Given the description of an element on the screen output the (x, y) to click on. 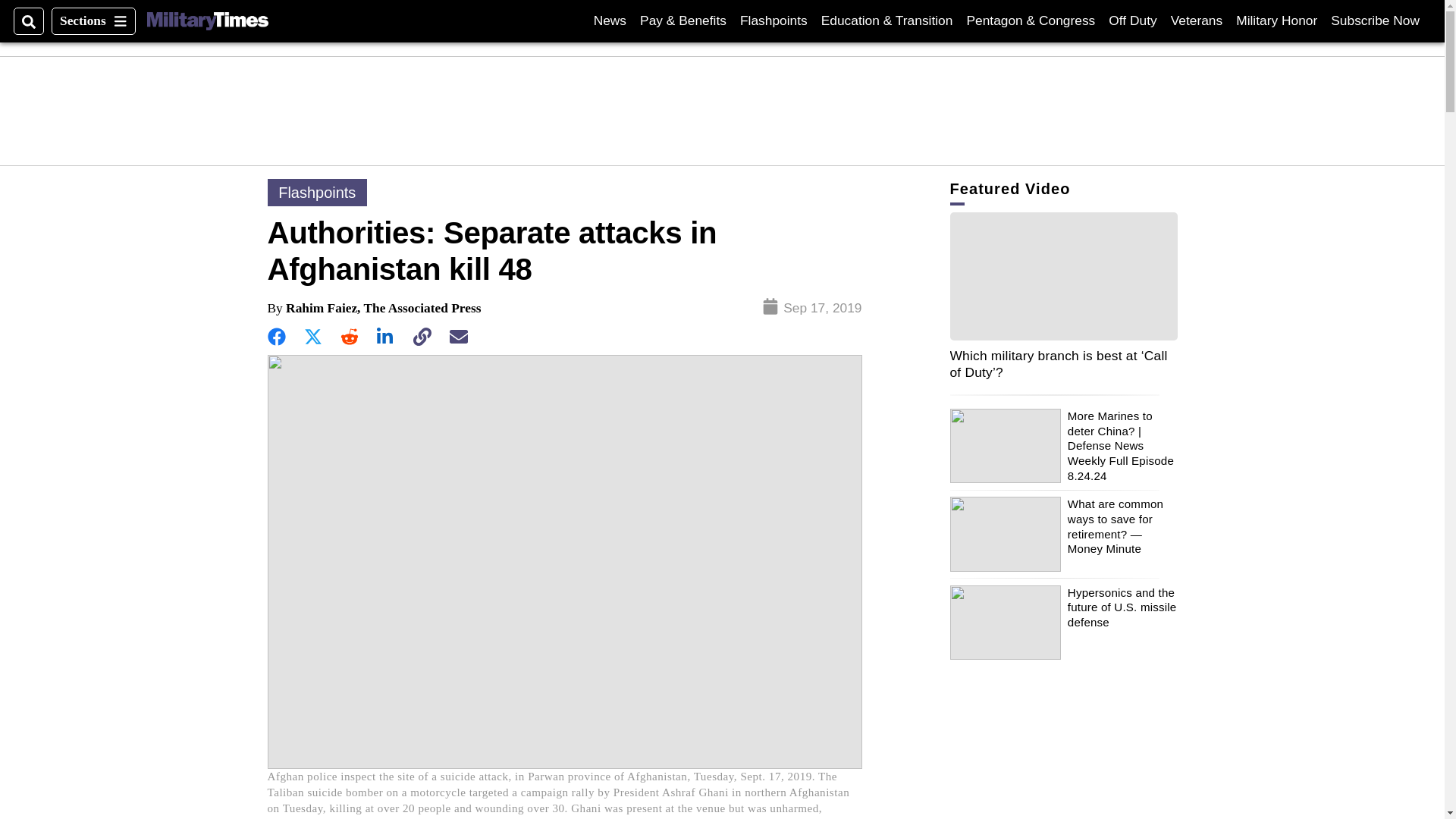
Sections (92, 21)
Veterans (1196, 20)
News (610, 20)
Military Honor (1374, 20)
Off Duty (1276, 20)
Military Times Logo (1132, 20)
Flashpoints (207, 21)
